Given the description of an element on the screen output the (x, y) to click on. 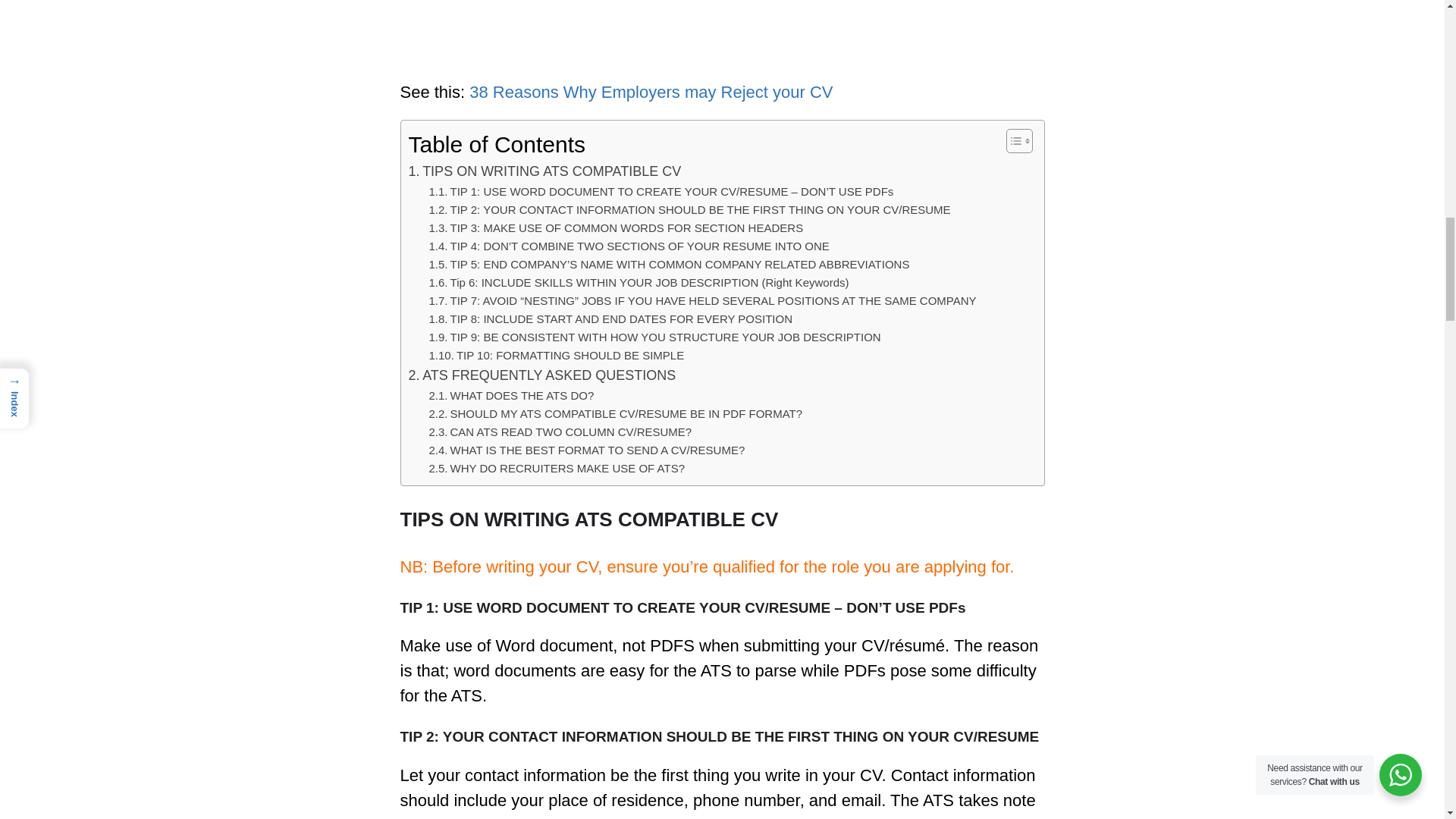
TIPS ON WRITING ATS COMPATIBLE CV (544, 171)
